Given the description of an element on the screen output the (x, y) to click on. 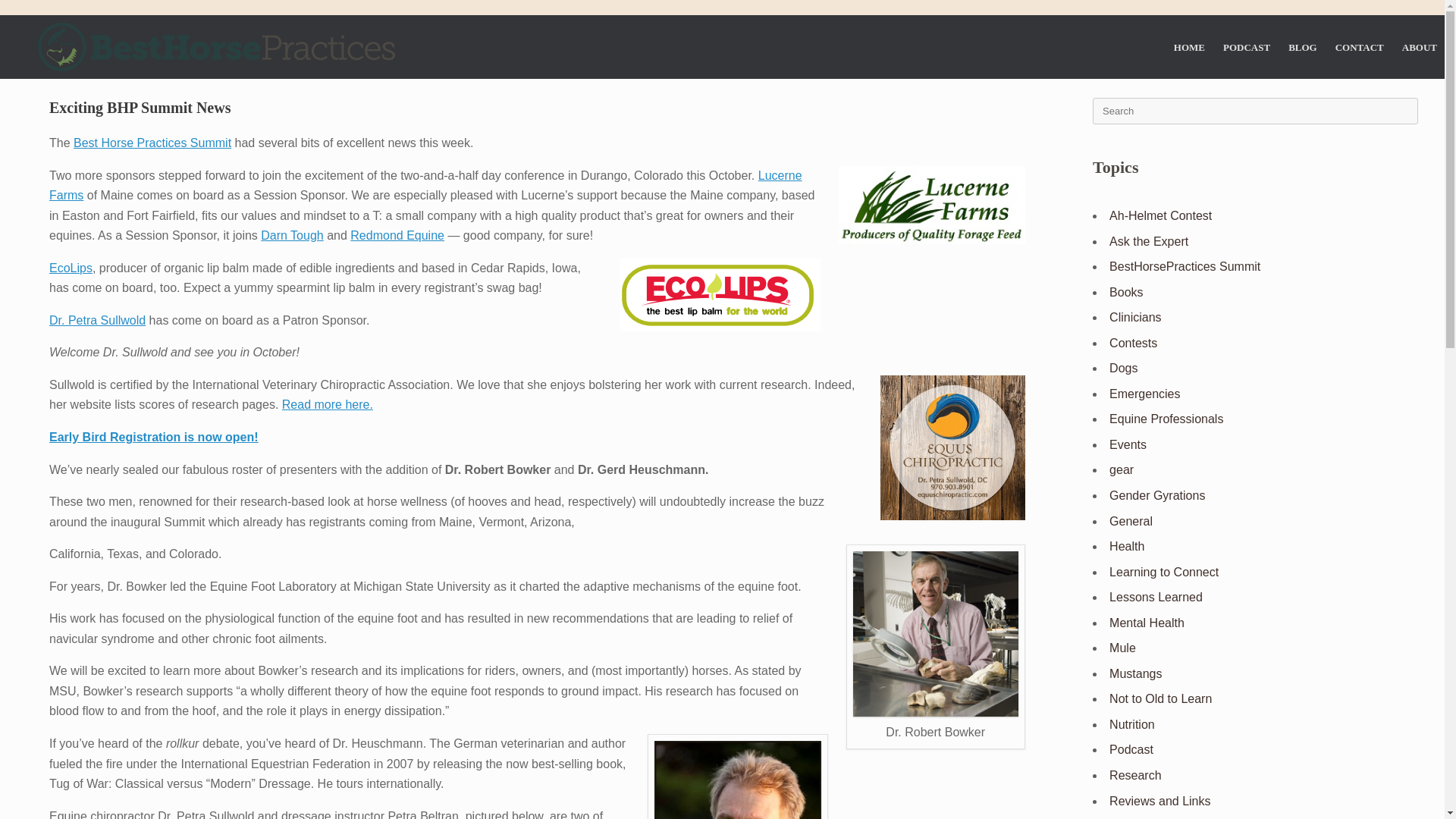
Read more here. (327, 404)
Clinicians (1134, 317)
Equine Professionals (1166, 418)
EcoLips (71, 267)
HOME (1189, 46)
Contests (1133, 342)
Lucerne Farms (425, 185)
Books (1125, 291)
Events (1128, 444)
Best Horse Practices (215, 46)
Ah-Helmet Contest (1160, 215)
General (1131, 521)
Dr. Petra Sullwold (97, 319)
BLOG (1302, 46)
